Given the description of an element on the screen output the (x, y) to click on. 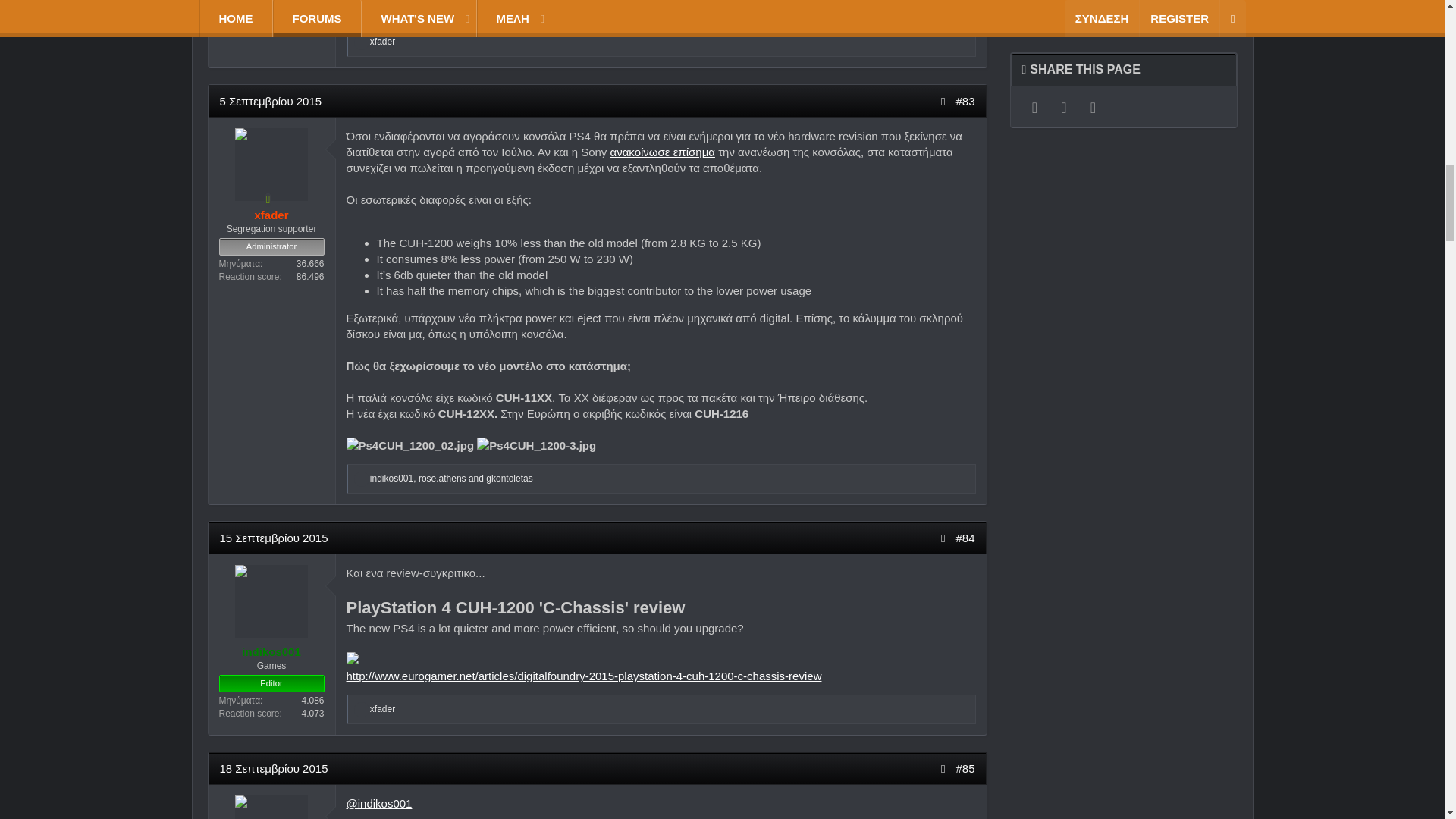
Like (360, 709)
Like (360, 479)
Like (360, 42)
